Given the description of an element on the screen output the (x, y) to click on. 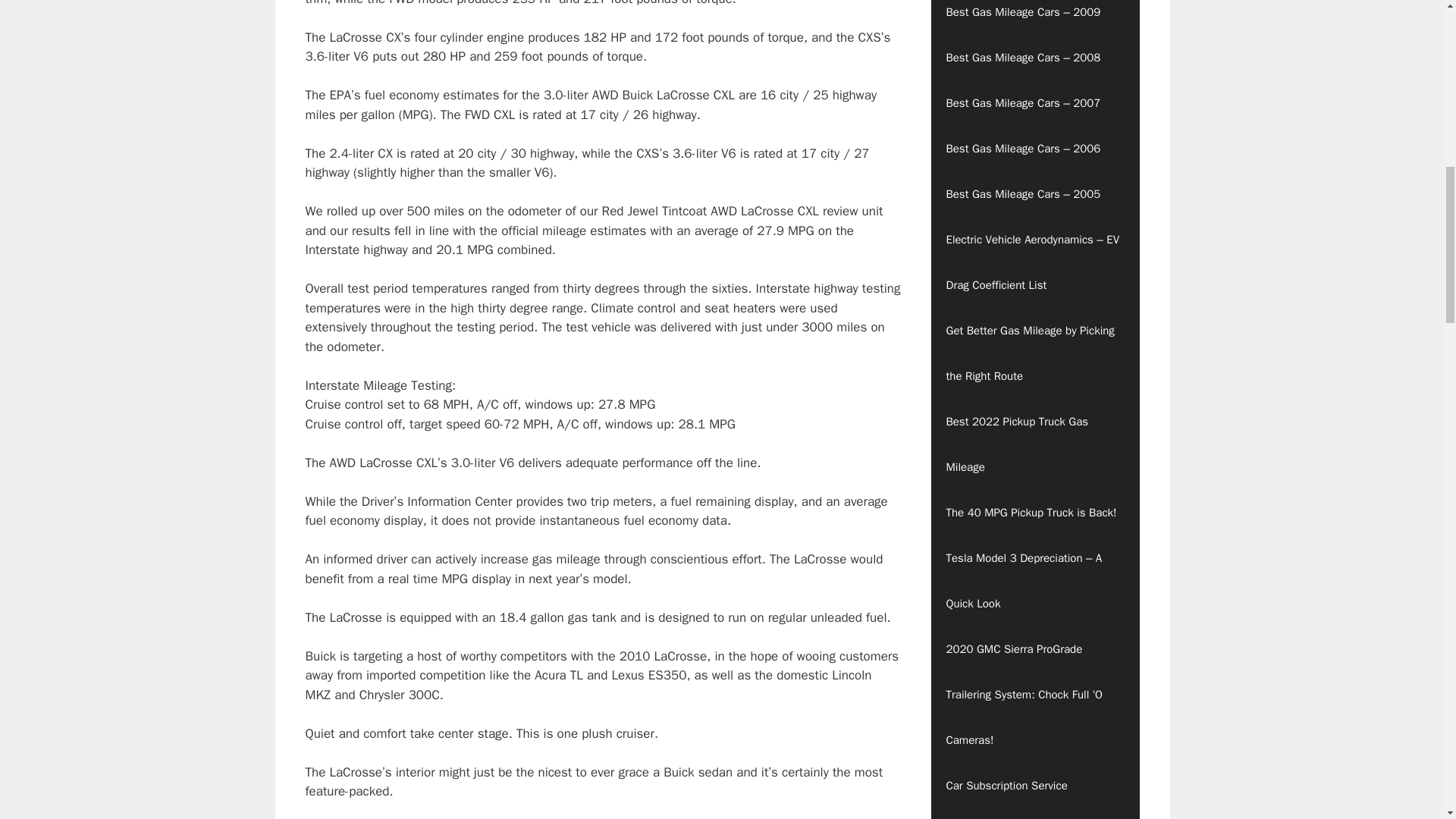
Best 2022 Pickup Truck Gas Mileage (1035, 443)
Get Better Gas Mileage by Picking the Right Route (1035, 352)
Car Subscription Service Comparison (1035, 790)
The 40 MPG Pickup Truck is Back! (1035, 512)
